Given the description of an element on the screen output the (x, y) to click on. 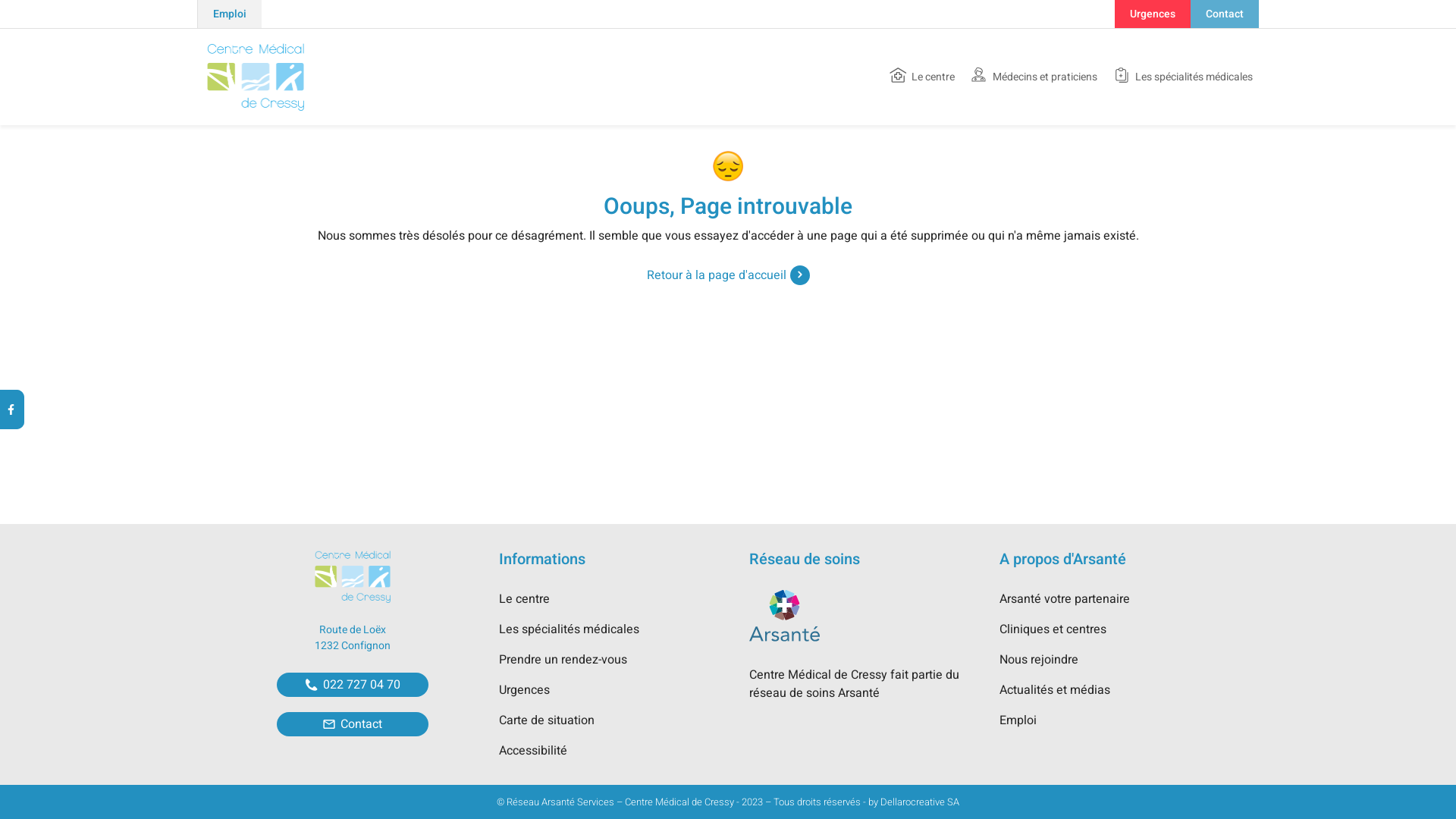
Le centre Element type: text (921, 76)
Emploi Element type: text (1017, 720)
Contact Element type: text (1224, 14)
Urgences Element type: text (523, 689)
022 727 04 70 Element type: text (352, 684)
Dellarocreative SA Element type: text (919, 801)
Urgences Element type: text (1152, 14)
Carte de situation Element type: text (546, 720)
Emploi Element type: text (229, 14)
Prendre un rendez-vous Element type: text (562, 659)
Le centre Element type: text (523, 598)
Contact Element type: text (352, 724)
Nous rejoindre Element type: text (1038, 659)
Cliniques et centres Element type: text (1052, 629)
